Given the description of an element on the screen output the (x, y) to click on. 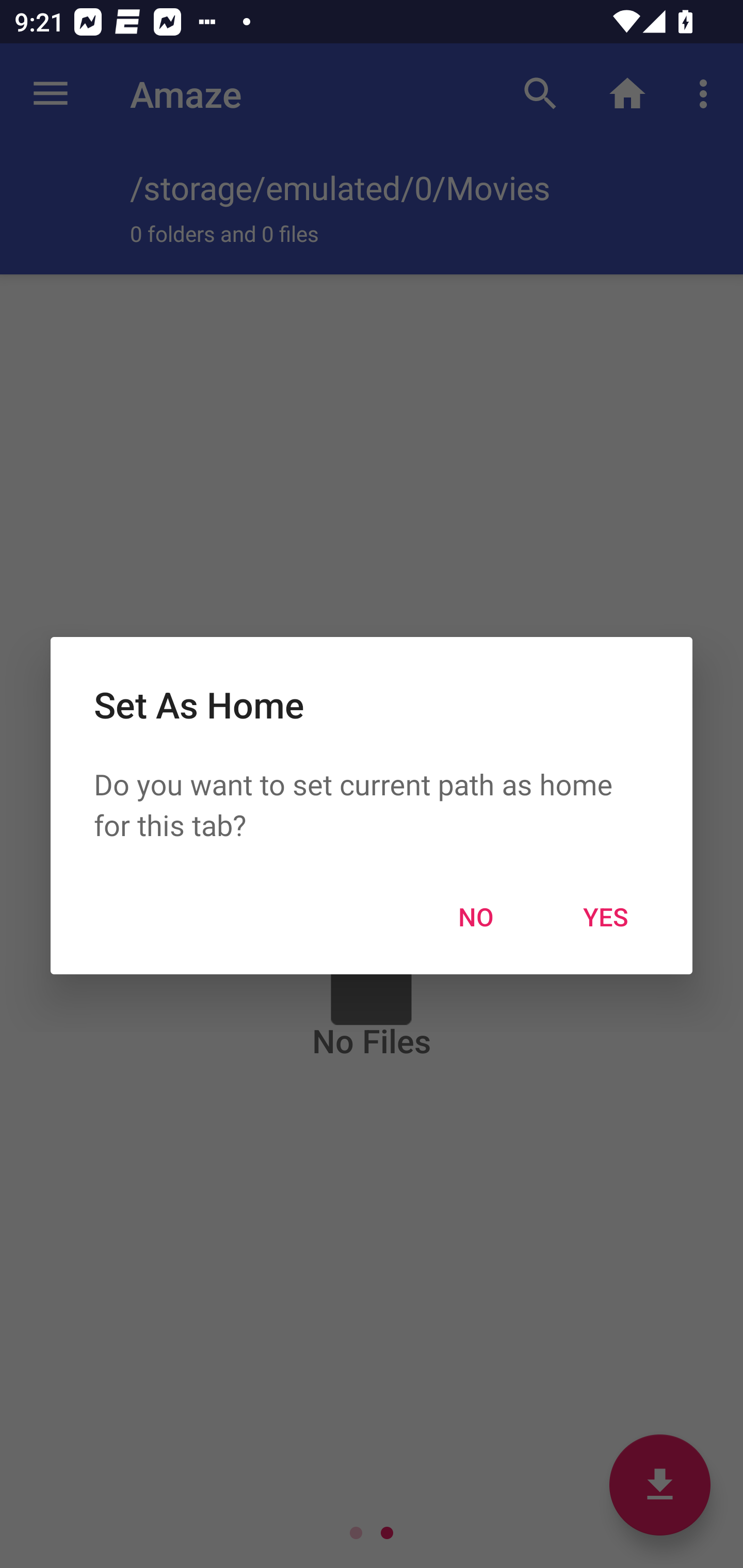
NO (475, 916)
YES (605, 916)
